Given the description of an element on the screen output the (x, y) to click on. 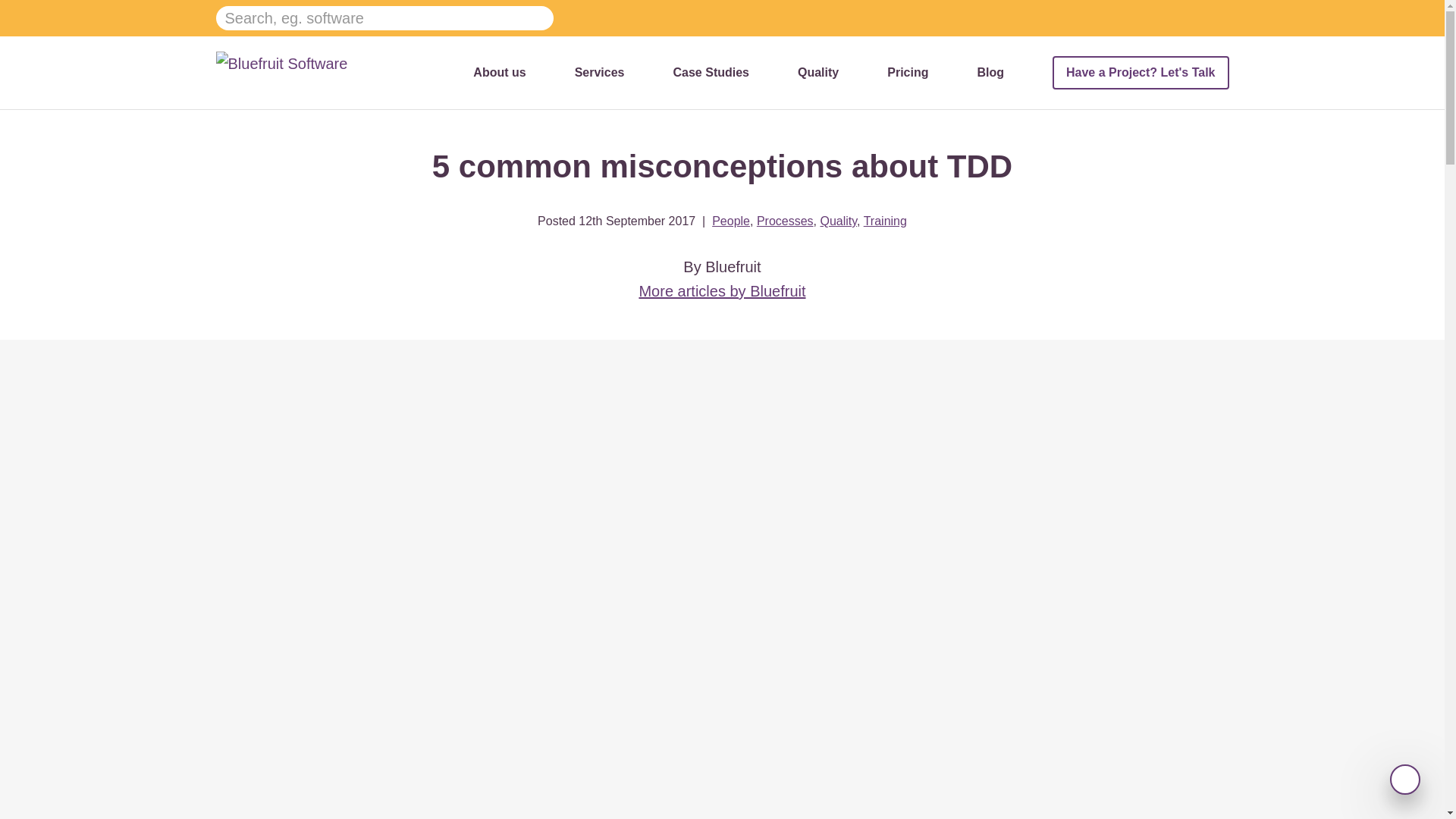
Case Studies (711, 72)
About us (499, 72)
Have a Project? Let's Talk (1140, 72)
Quality (818, 72)
Pricing (907, 72)
Services (599, 72)
Blog (989, 72)
